Given the description of an element on the screen output the (x, y) to click on. 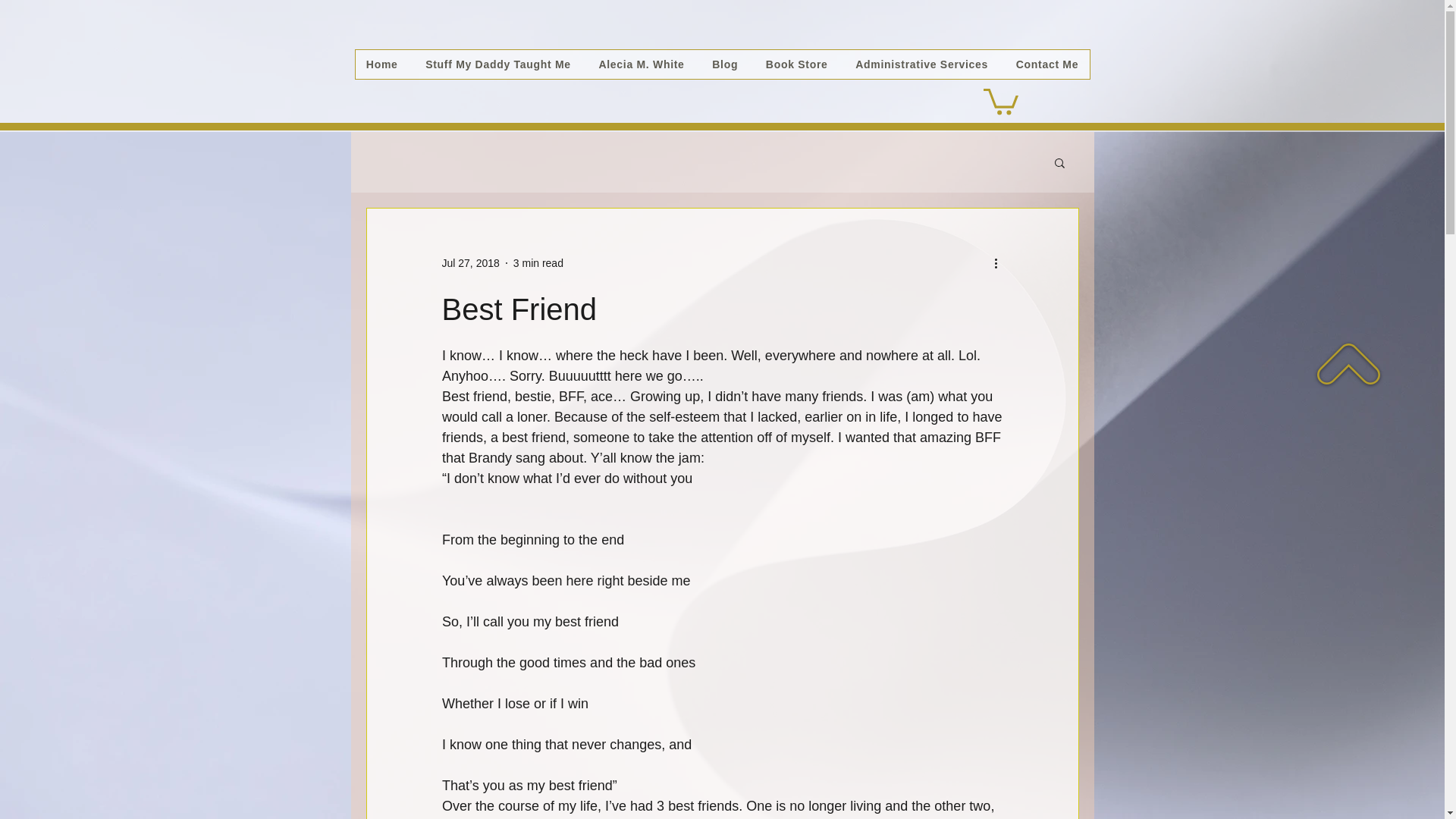
Stuff My Daddy Taught Me (497, 63)
Jul 27, 2018 (470, 262)
Home (381, 63)
Book Store (796, 63)
Blog (725, 63)
Administrative Services (921, 63)
Alecia M. White (641, 63)
3 min read (538, 262)
